Given the description of an element on the screen output the (x, y) to click on. 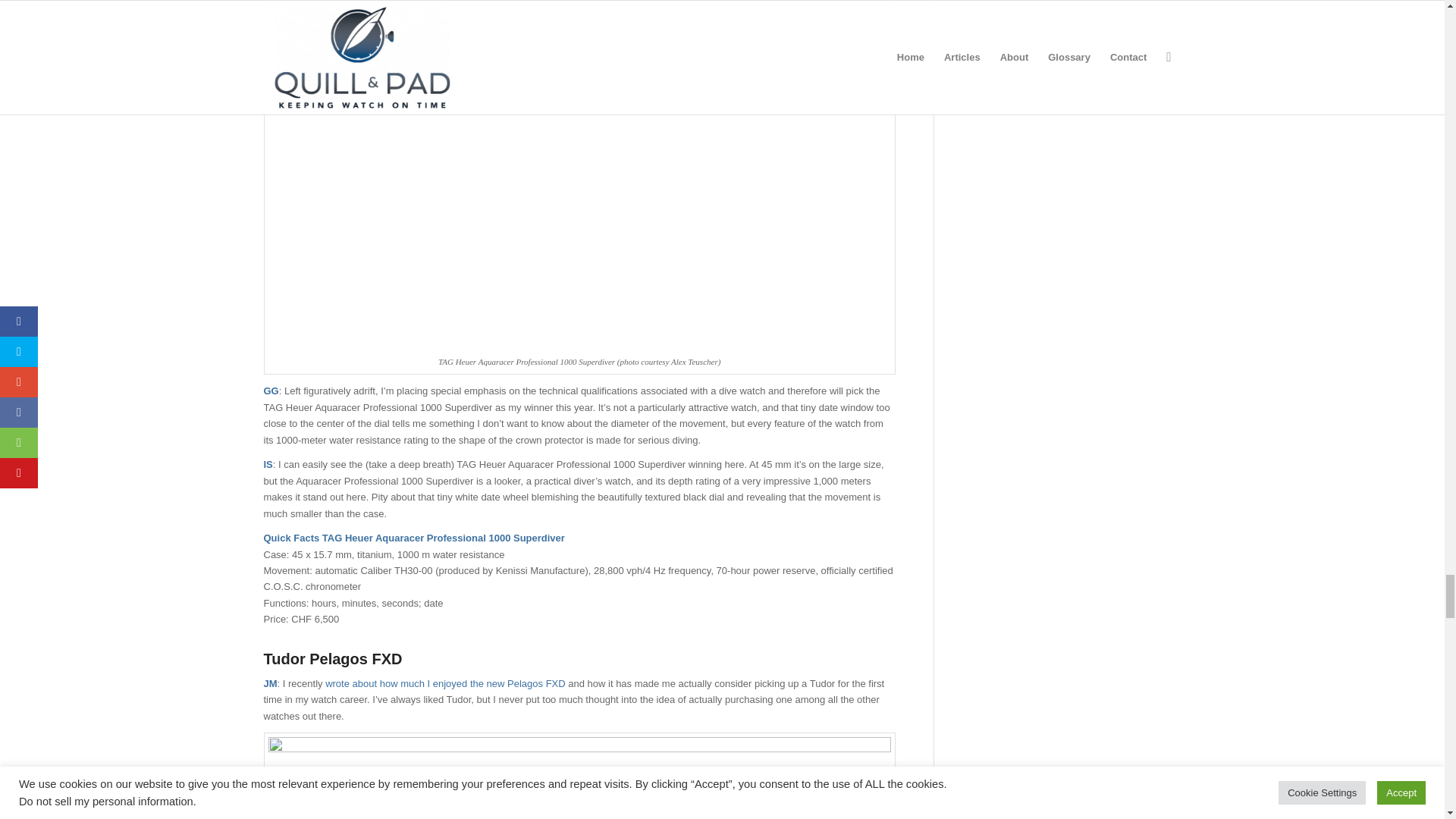
wrote about how much I enjoyed the new Pelagos FXD (445, 683)
